Given the description of an element on the screen output the (x, y) to click on. 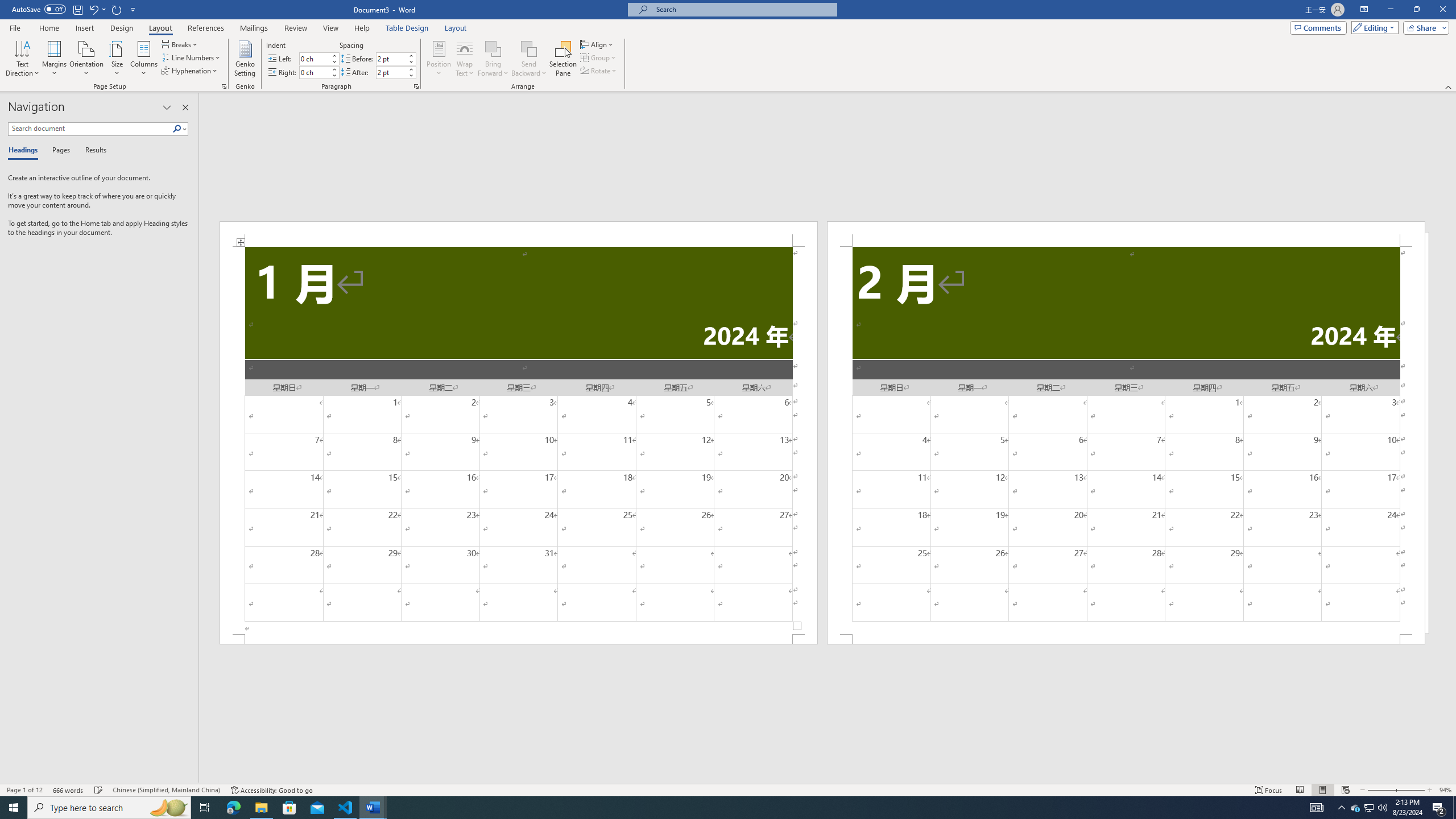
Repeat Doc Close (117, 9)
Page 1 content (518, 439)
Size (116, 58)
Columns (143, 58)
Mode (1372, 27)
